Given the description of an element on the screen output the (x, y) to click on. 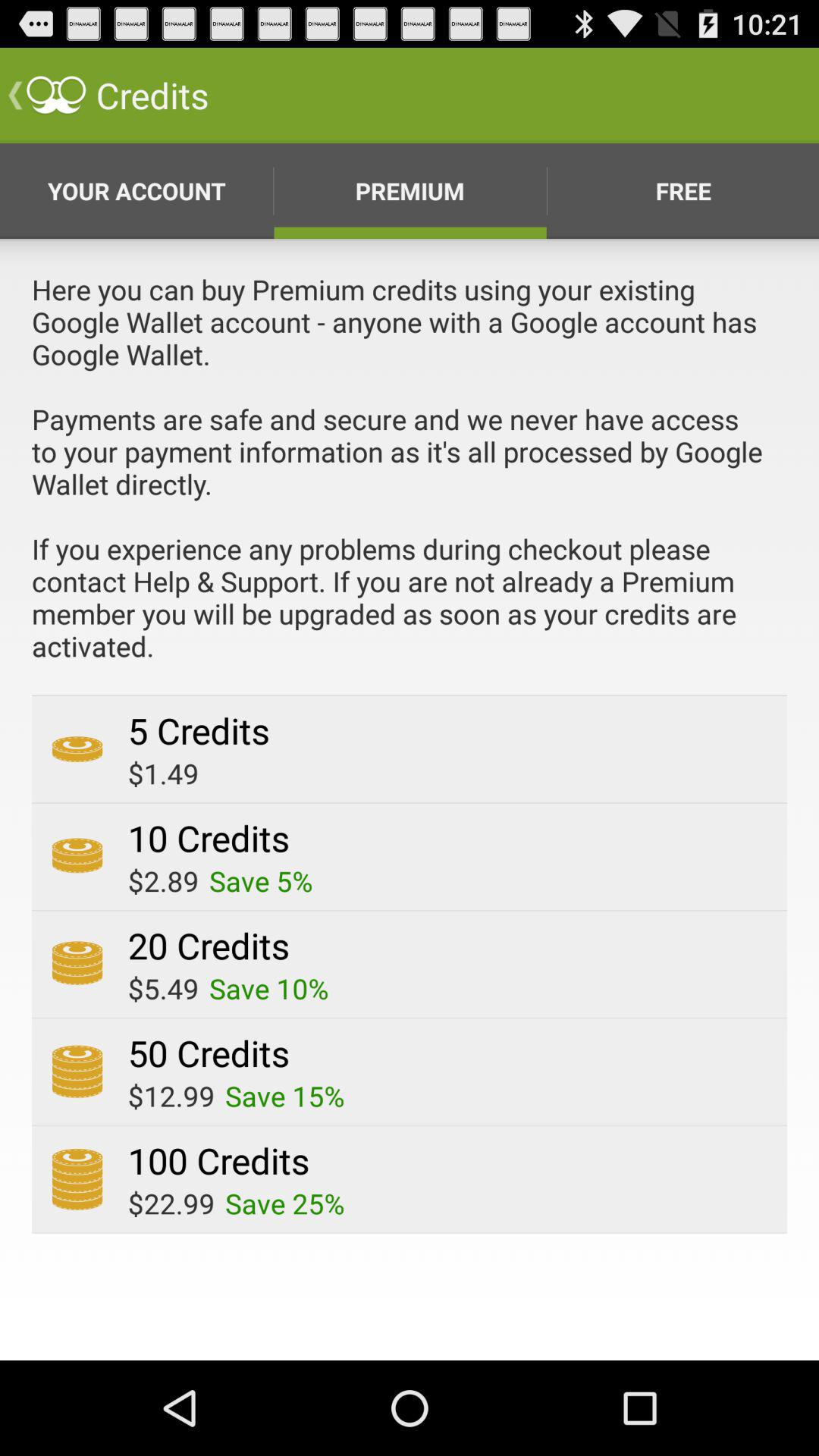
swipe to the 100 credits item (218, 1160)
